Given the description of an element on the screen output the (x, y) to click on. 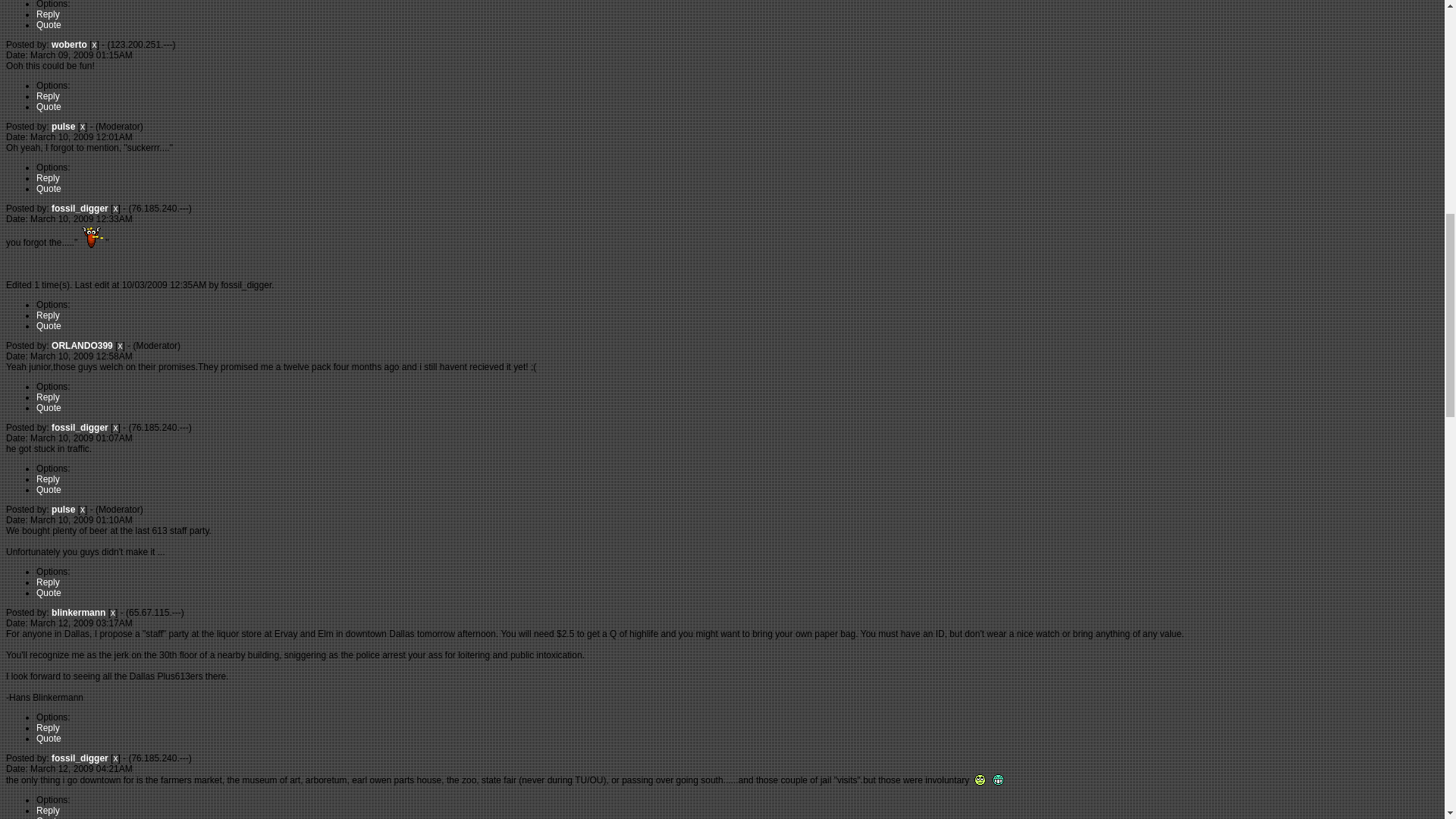
grinning smiley (998, 779)
eye rolling smiley (979, 779)
hot smiley (91, 236)
